Given the description of an element on the screen output the (x, y) to click on. 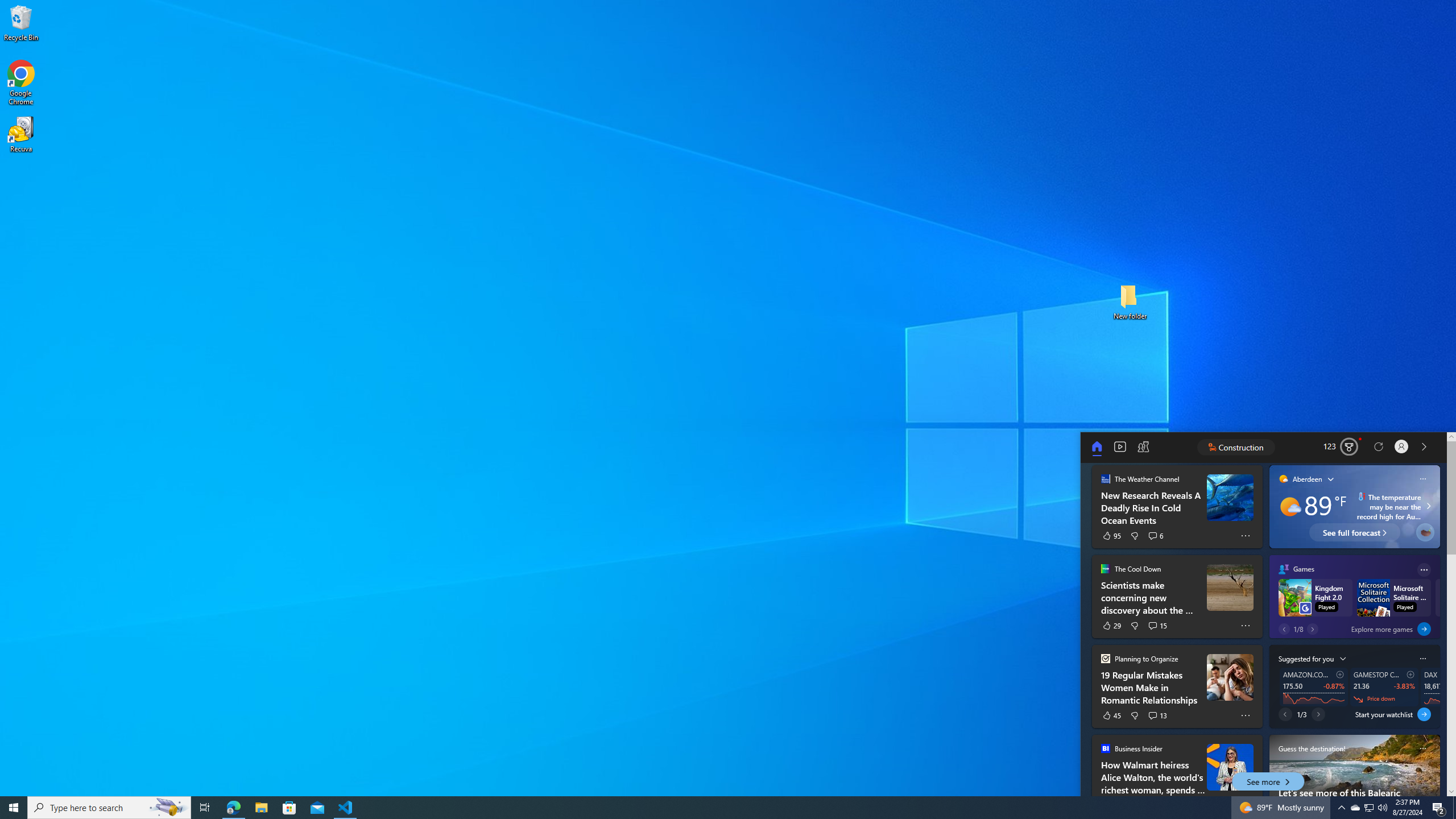
See more (1267, 781)
Kingdom Fight 2.0Kingdom Fight 2.0 Played Play (1317, 597)
Microsoft Rewards (1342, 446)
Refresh feed (1378, 446)
More options (1423, 569)
Add to watchlist (1410, 673)
Like (1111, 715)
